Given the description of an element on the screen output the (x, y) to click on. 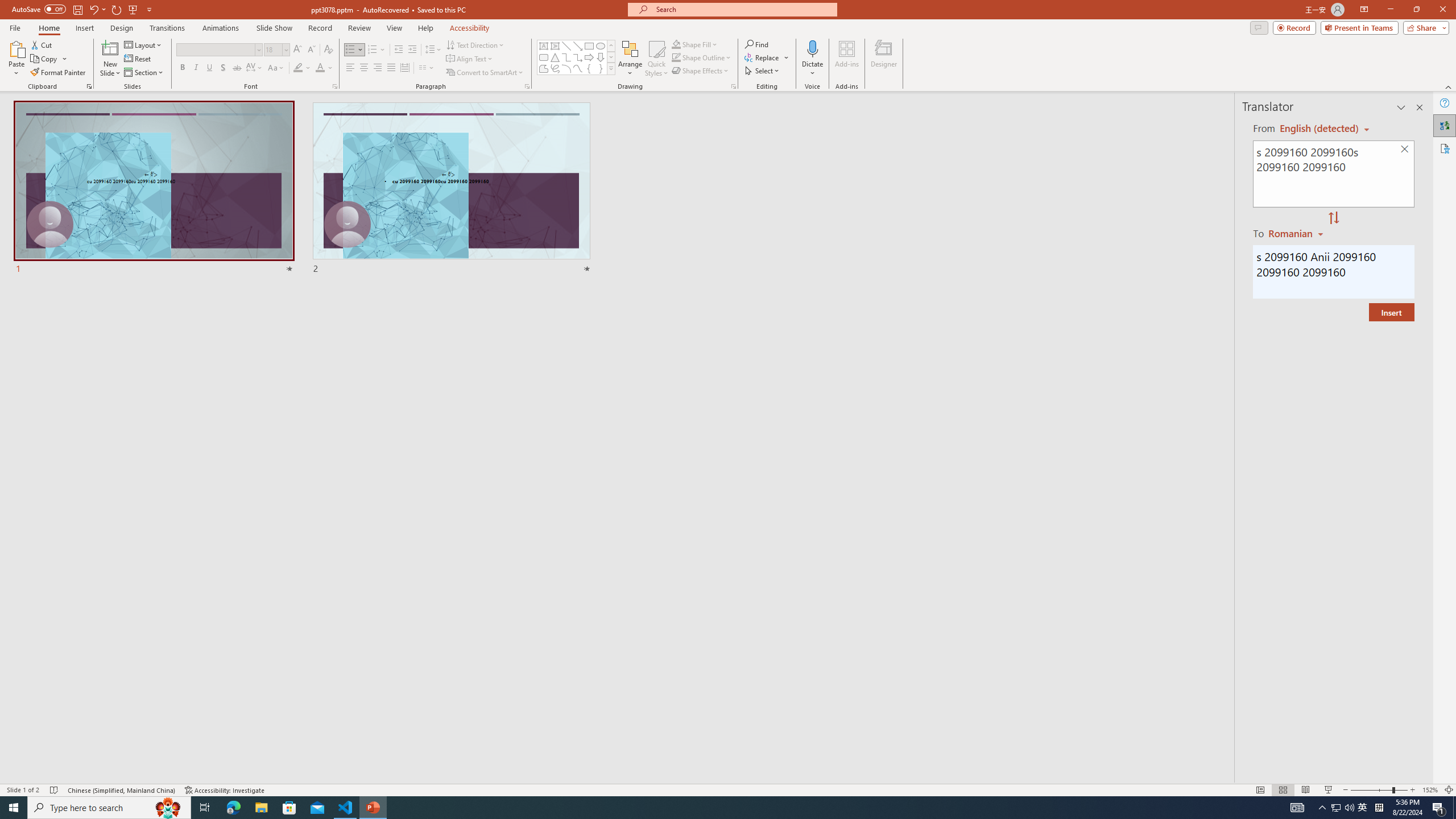
Romanian (1296, 232)
